Given the description of an element on the screen output the (x, y) to click on. 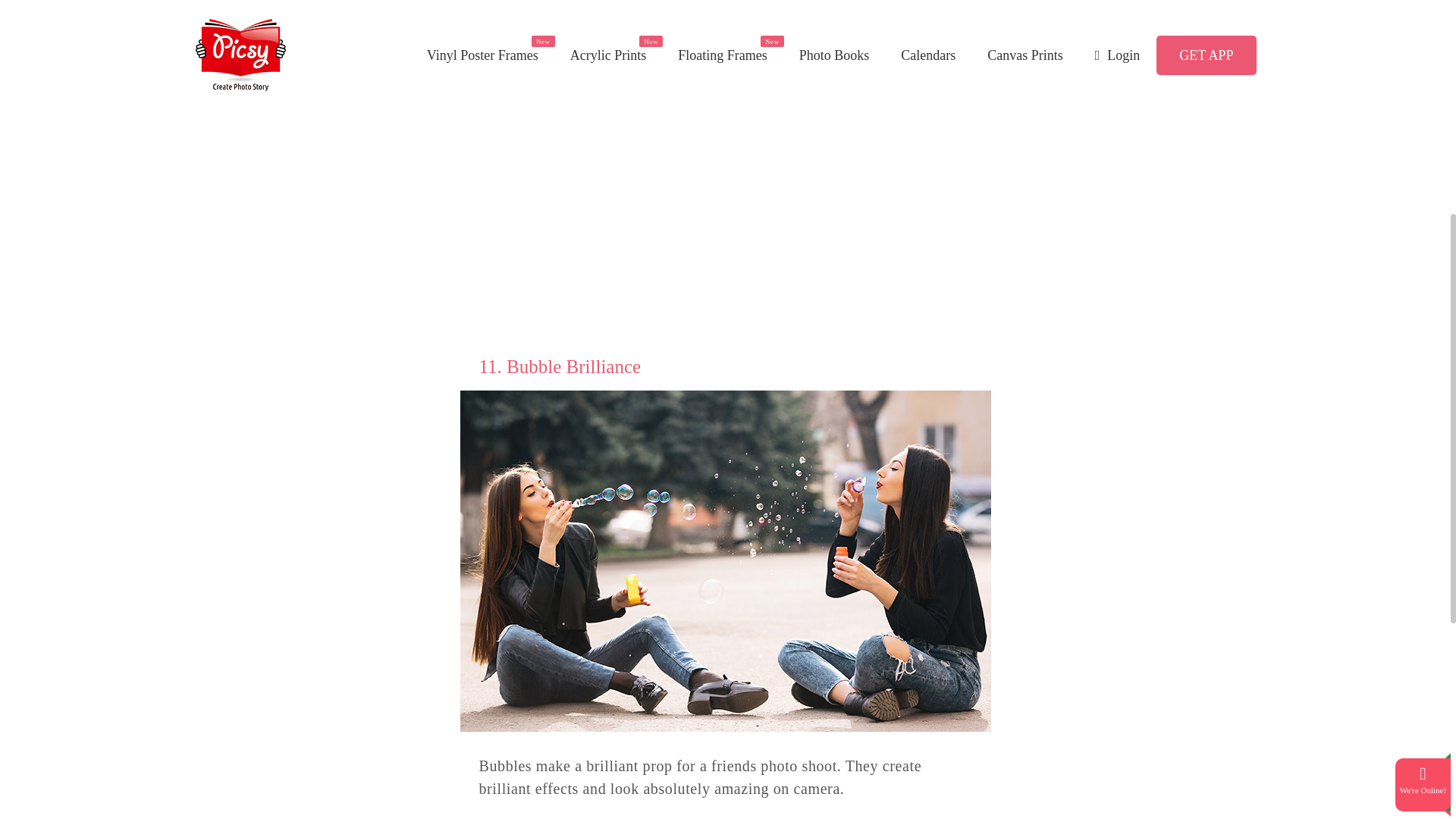
Picsy (724, 26)
